Given the description of an element on the screen output the (x, y) to click on. 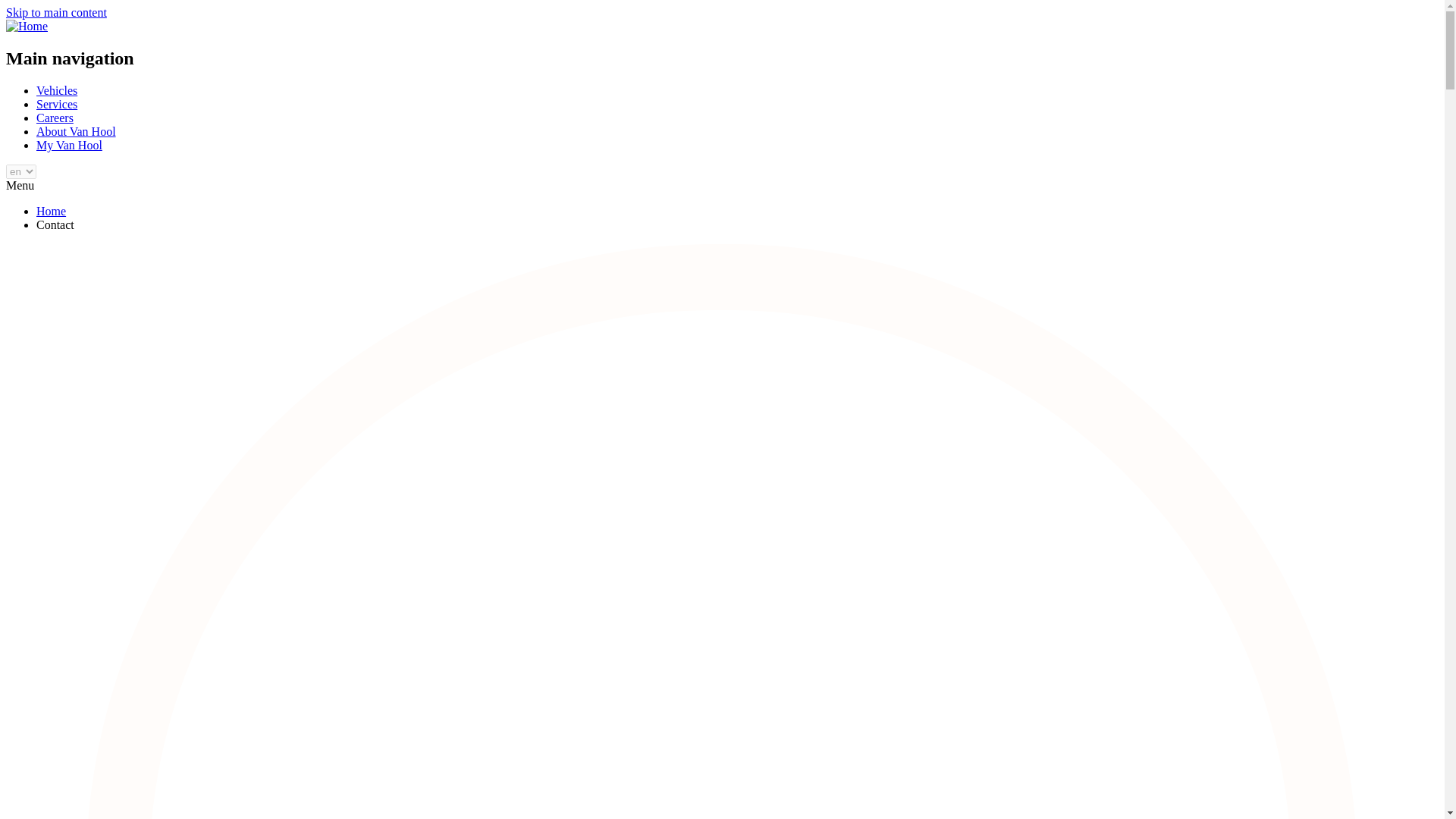
Home (50, 210)
Vehicles (56, 90)
Careers (55, 117)
About Van Hool (76, 131)
Services (56, 103)
Skip to main content (55, 11)
Menu (19, 185)
My Van Hool (68, 144)
